Given the description of an element on the screen output the (x, y) to click on. 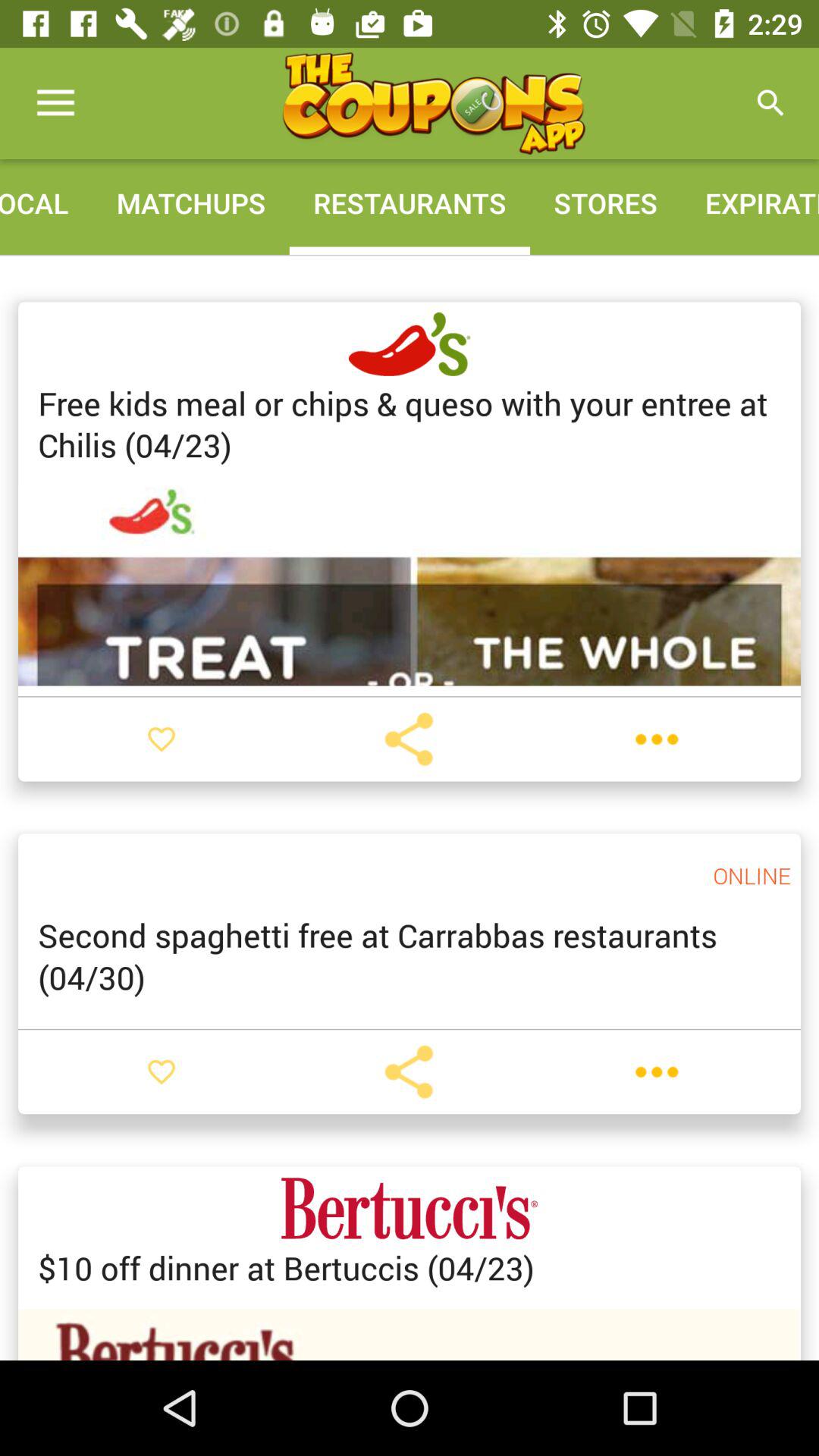
share story (408, 739)
